Given the description of an element on the screen output the (x, y) to click on. 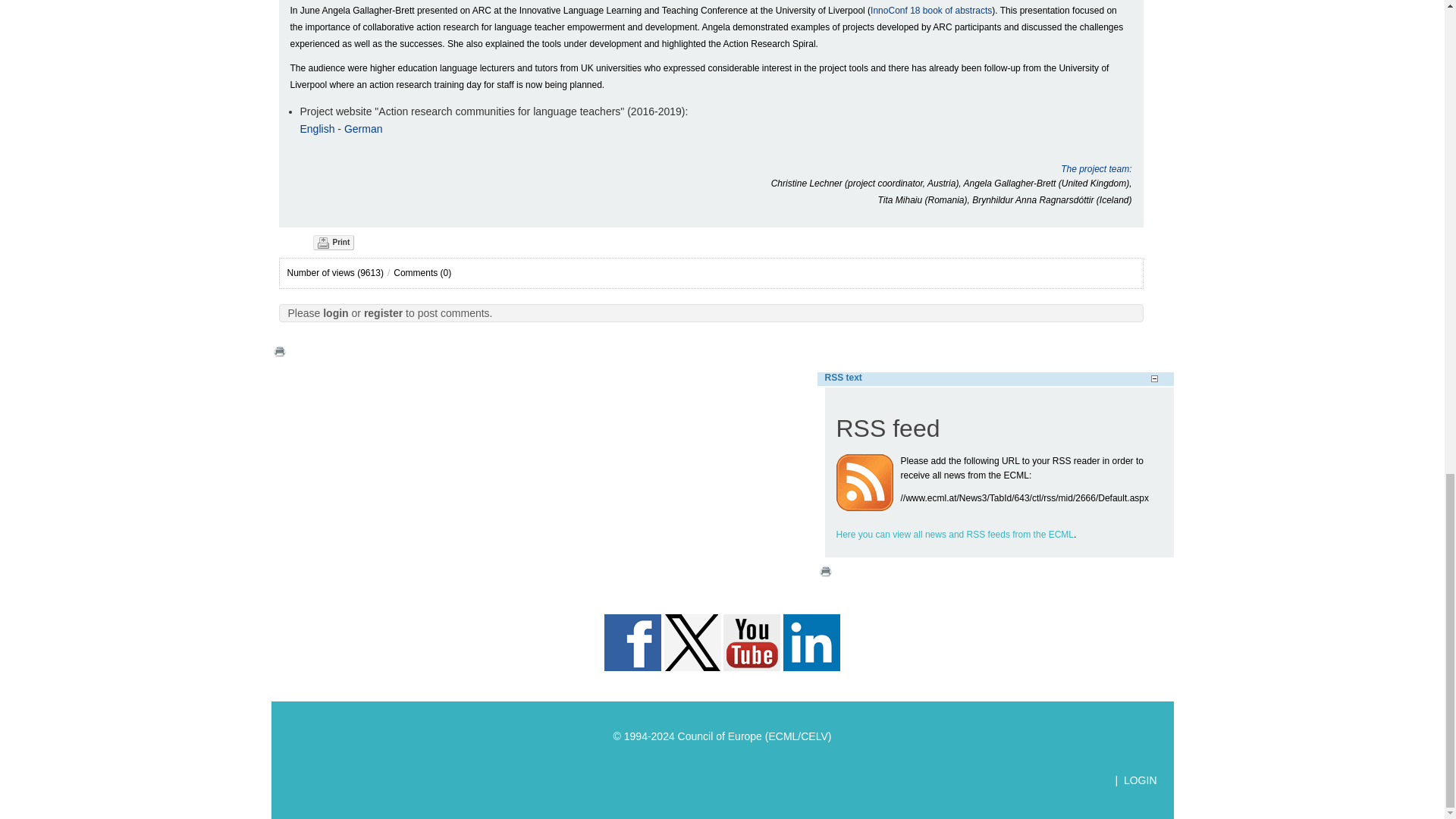
LOGIN (1140, 779)
